Given the description of an element on the screen output the (x, y) to click on. 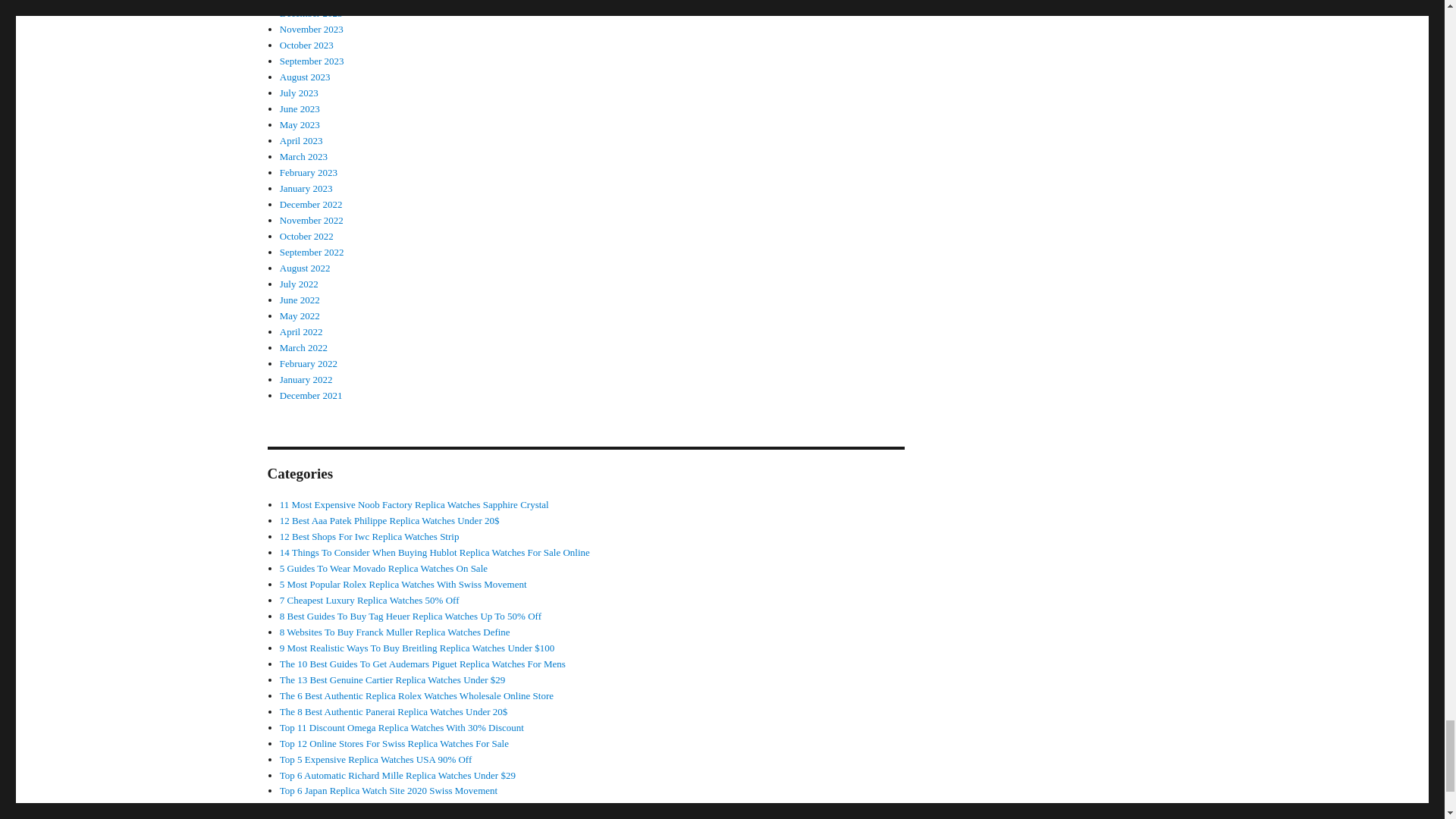
June 2023 (299, 108)
August 2022 (304, 267)
October 2022 (306, 235)
May 2022 (299, 315)
December 2022 (310, 204)
November 2023 (311, 29)
March 2023 (303, 156)
January 2023 (306, 188)
January 2024 (306, 1)
October 2023 (306, 44)
